Given the description of an element on the screen output the (x, y) to click on. 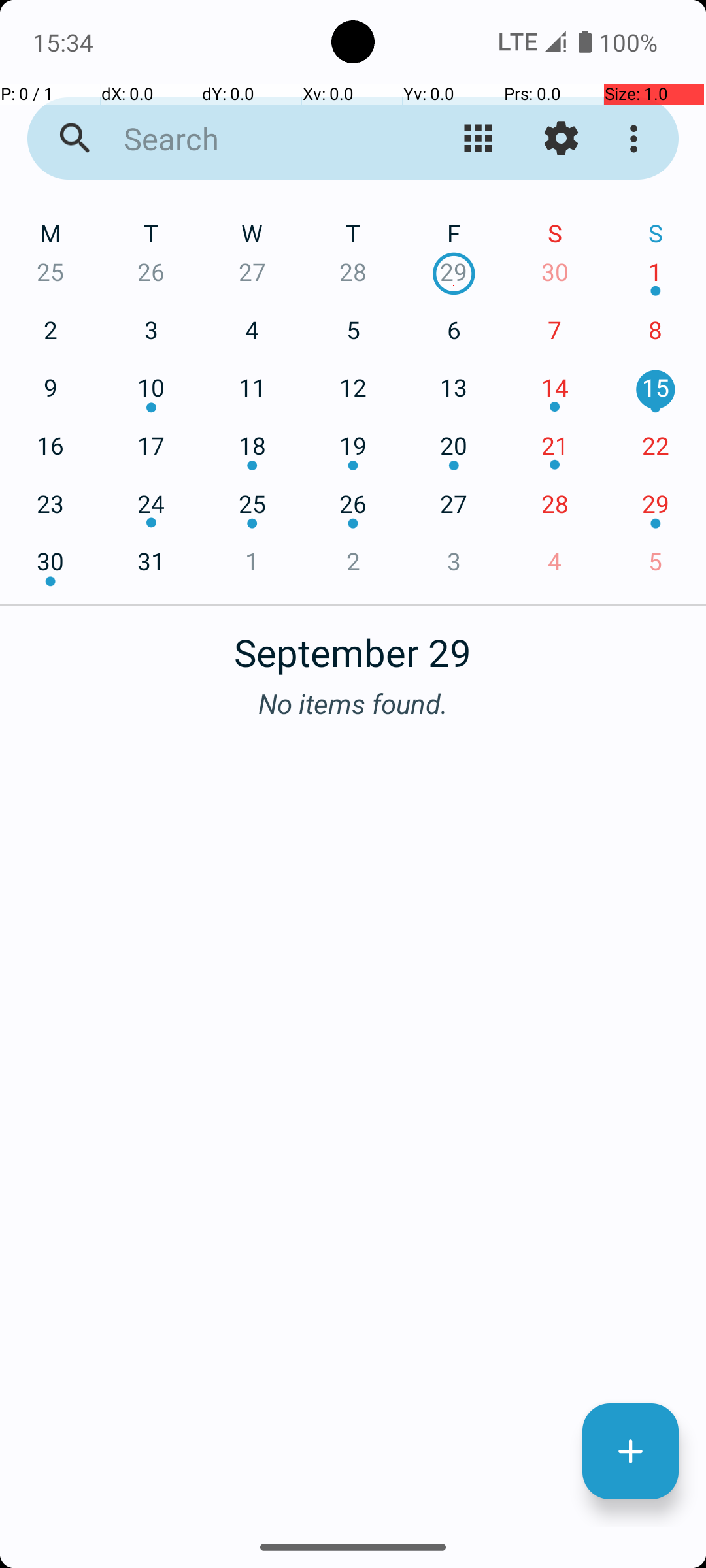
September 29 Element type: android.widget.TextView (352, 644)
